Given the description of an element on the screen output the (x, y) to click on. 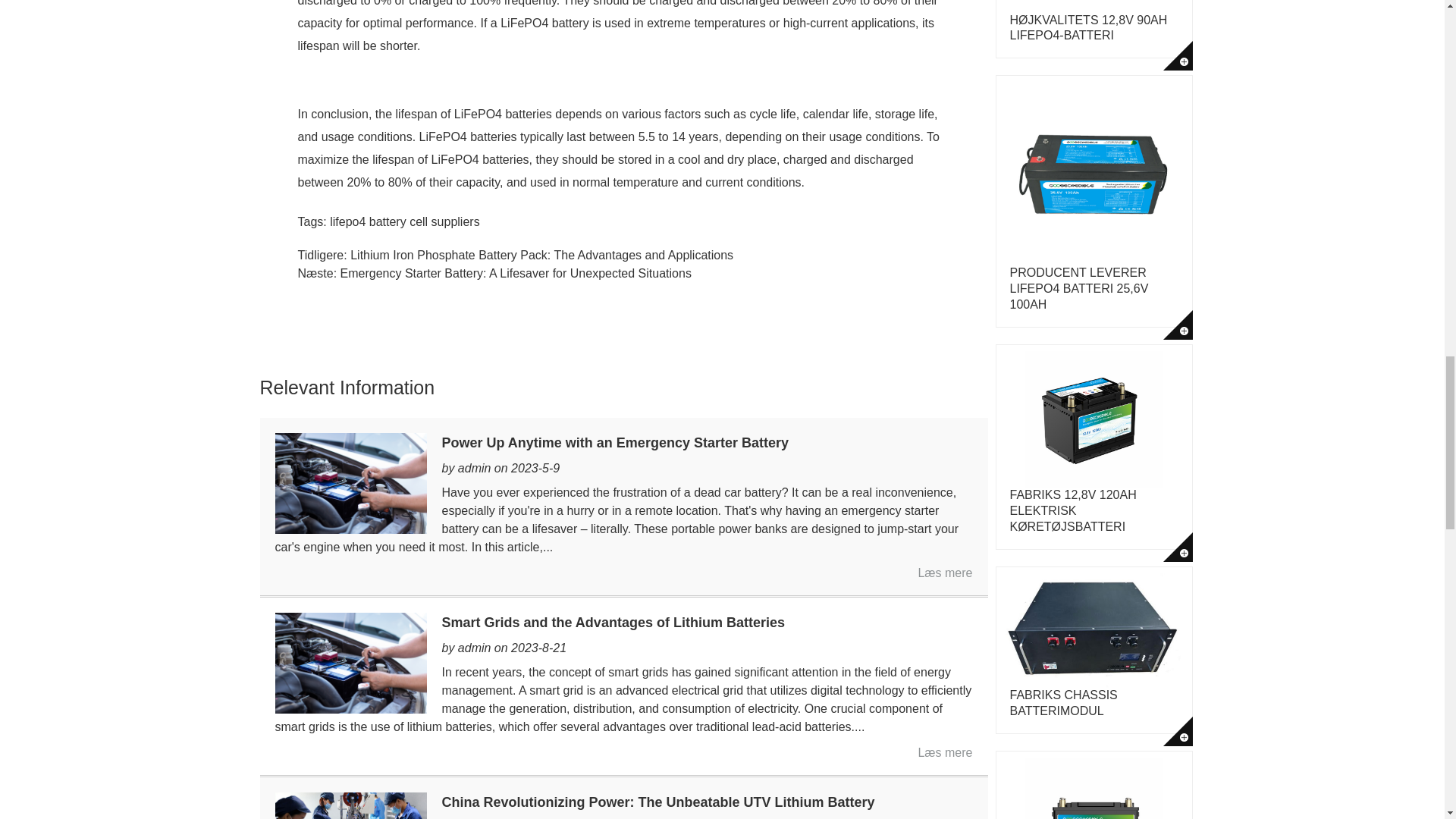
Power Up Anytime with an Emergency Starter Battery (350, 482)
Producent leverer LiFePO4 batteri 25,6V 100Ah (1178, 324)
Power Up Anytime with an Emergency Starter Battery (614, 442)
Fabriks chassis batterimodul (1178, 731)
Smart Grids and the Advantages of Lithium Batteries (350, 662)
Fabriks chassis batterimodul (1064, 702)
Producent leverer LiFePO4 batteri 25,6V 100Ah (1079, 288)
Power Up Anytime with an Emergency Starter Battery (944, 573)
